Given the description of an element on the screen output the (x, y) to click on. 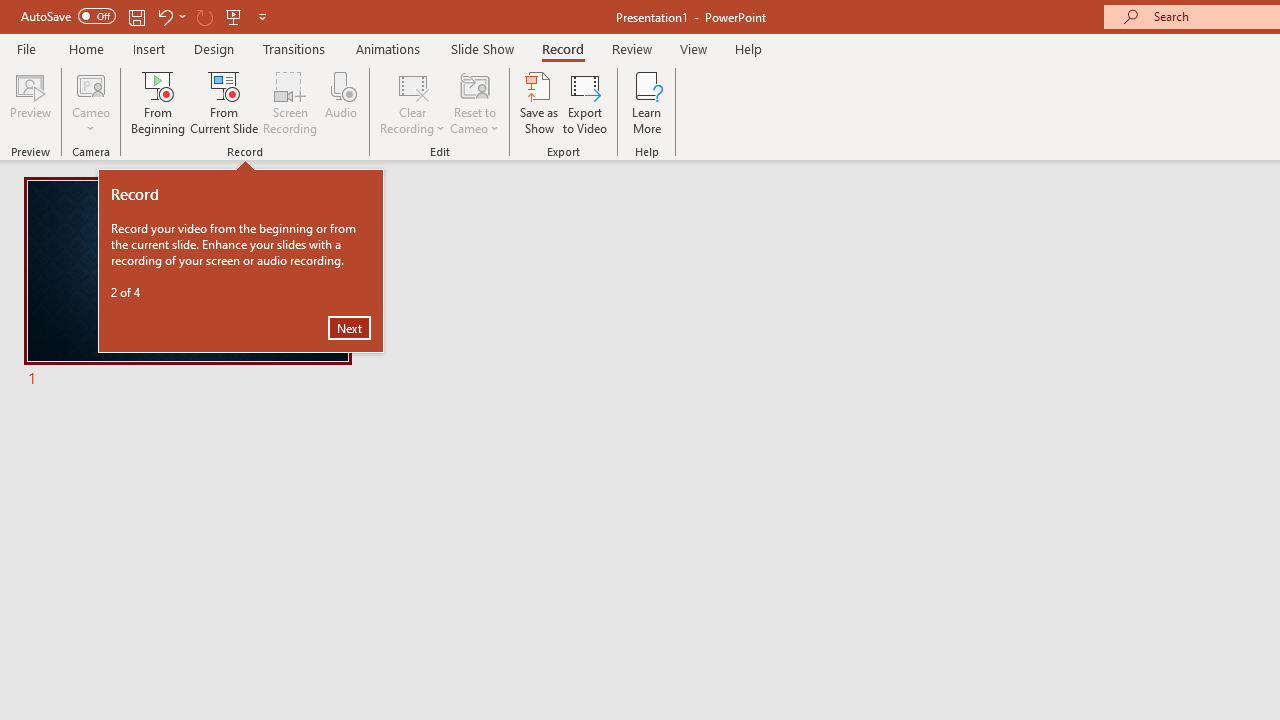
From Beginning... (158, 102)
Redo (204, 15)
More Options (91, 121)
AutoSave (68, 16)
Help (748, 48)
View (693, 48)
Design (214, 48)
Screen Recording (290, 102)
From Current Slide... (224, 102)
Clear Recording (412, 102)
Animations (388, 48)
Home (86, 48)
Next (349, 327)
